Given the description of an element on the screen output the (x, y) to click on. 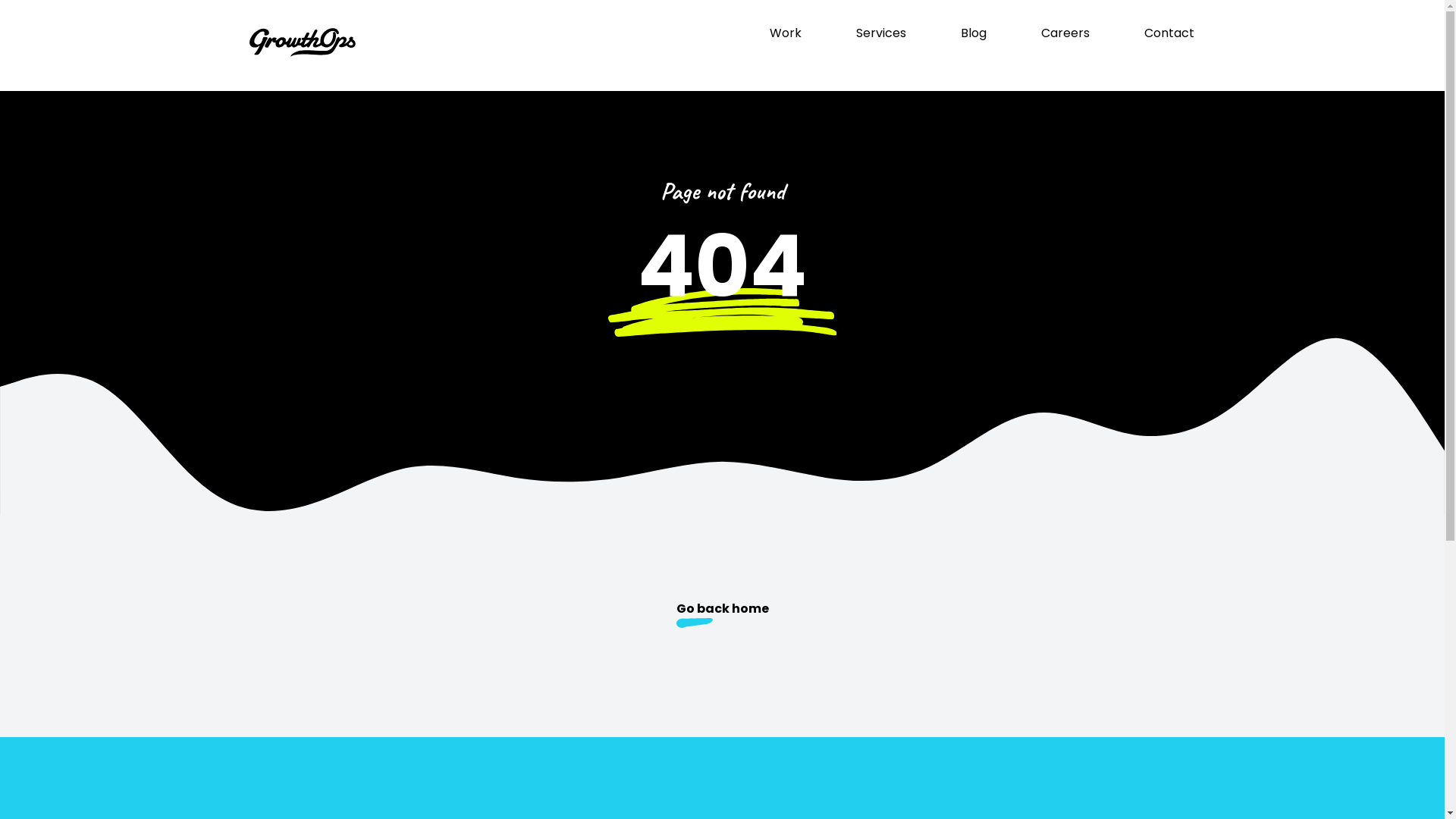
Work Element type: text (784, 32)
Blog Element type: text (972, 32)
Services Element type: text (880, 32)
Contact Element type: text (1168, 32)
Careers Element type: text (1064, 32)
Go back home Element type: text (722, 614)
